Given the description of an element on the screen output the (x, y) to click on. 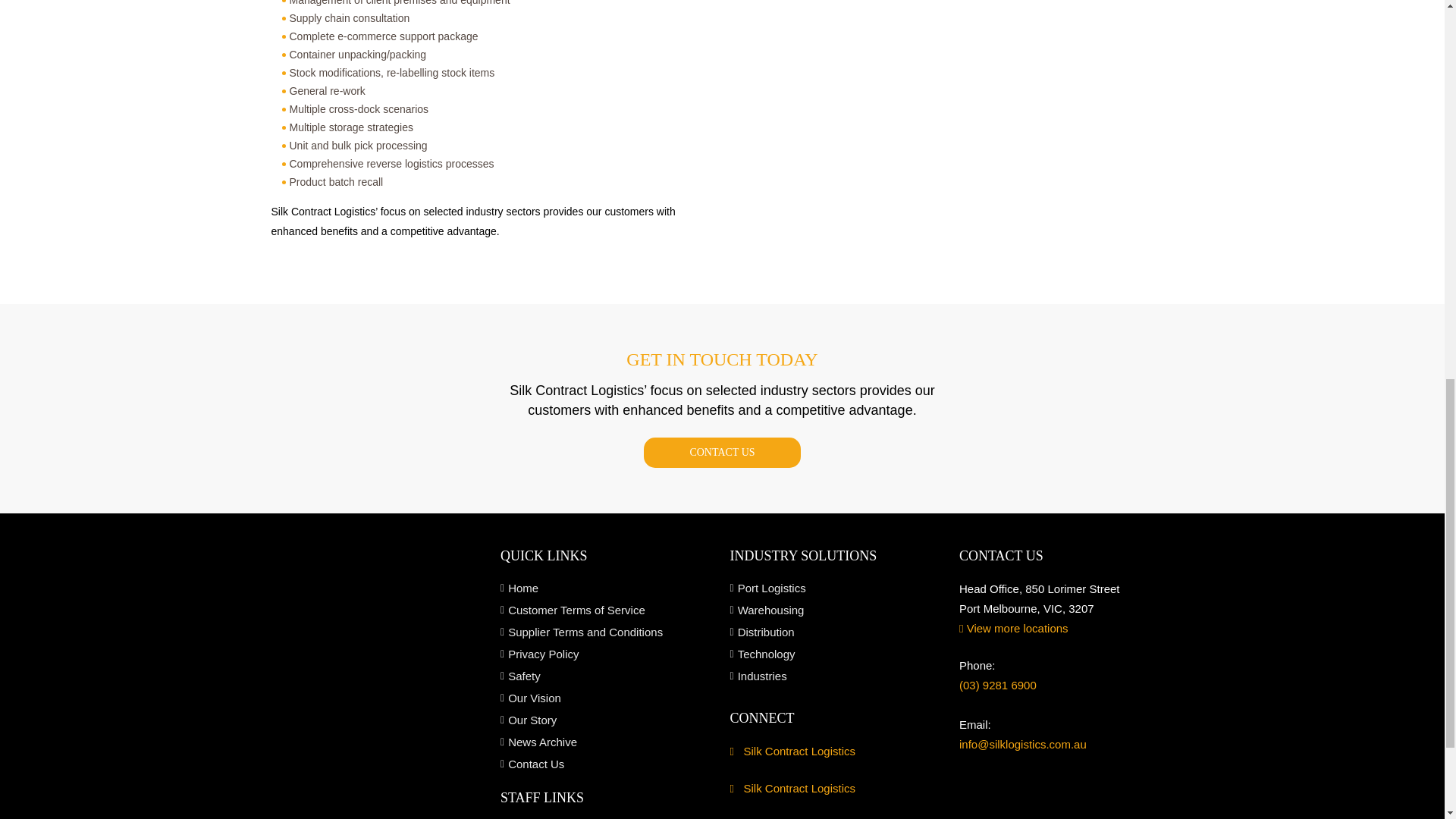
Customer Terms of Service (607, 610)
CONTACT US (721, 452)
Supplier Terms and Conditions (607, 632)
Our Vision (607, 698)
Safety (607, 676)
Home (607, 588)
Privacy Policy (607, 654)
